Given the description of an element on the screen output the (x, y) to click on. 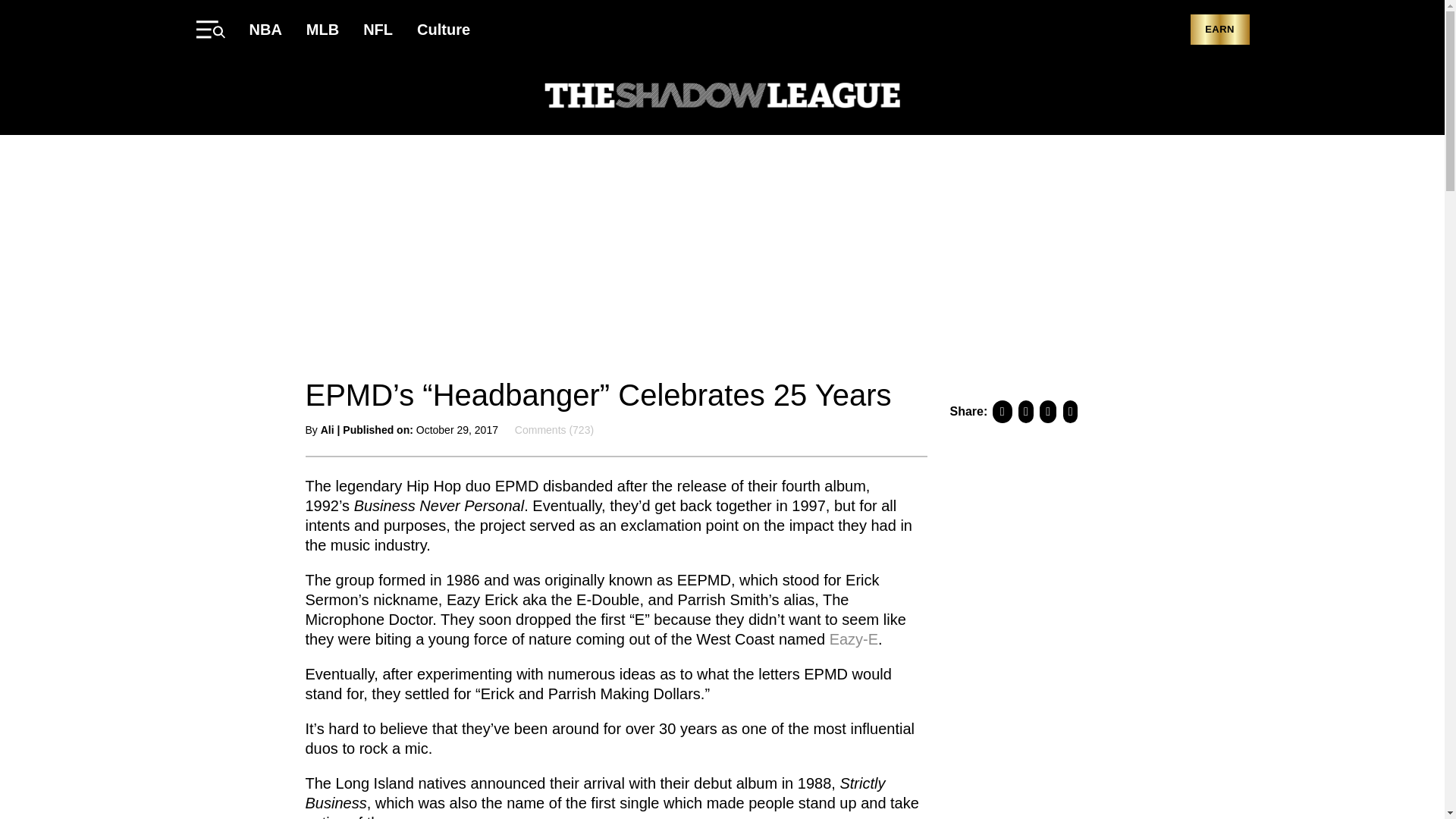
Youtube (1210, 96)
NFL (377, 29)
Instagram (1240, 96)
MLB (322, 29)
Facebook (1149, 96)
EARN (1220, 29)
The Shadow League (721, 96)
Ali (327, 429)
Culture (443, 29)
Primary Menu (209, 29)
NBA (264, 29)
Eazy-E (853, 638)
Twitter (1179, 96)
